Given the description of an element on the screen output the (x, y) to click on. 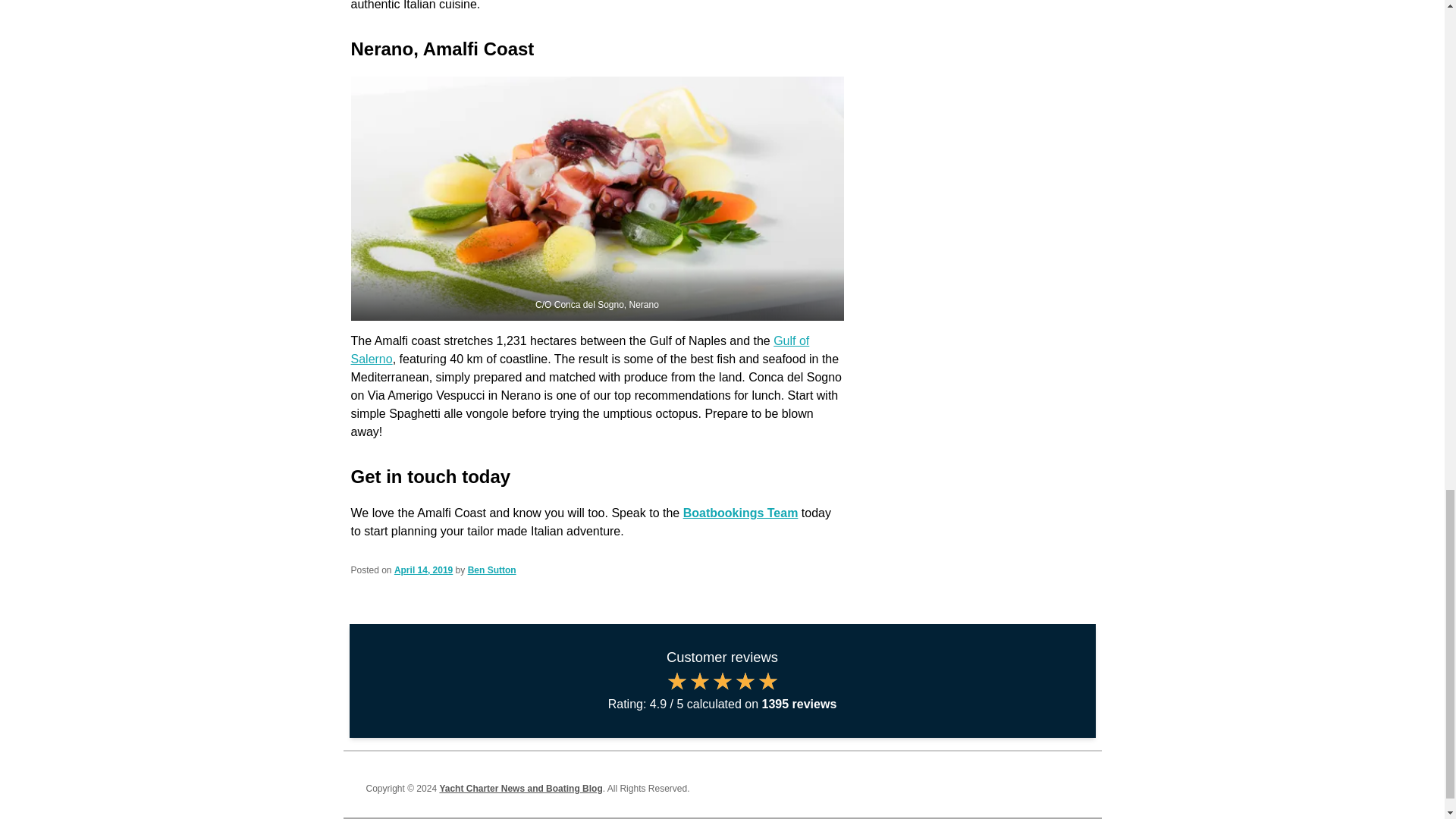
View all posts by Ben Sutton (491, 570)
April 14, 2019 (423, 570)
Yacht Charter News and Boating Blog (520, 787)
3:45 pm (423, 570)
Gulf of Salerno (579, 349)
Ben Sutton (491, 570)
Boatbookings reviews (722, 690)
Yacht Charter News and Boating Blog (520, 787)
Boatbookings Team (739, 512)
